Given the description of an element on the screen output the (x, y) to click on. 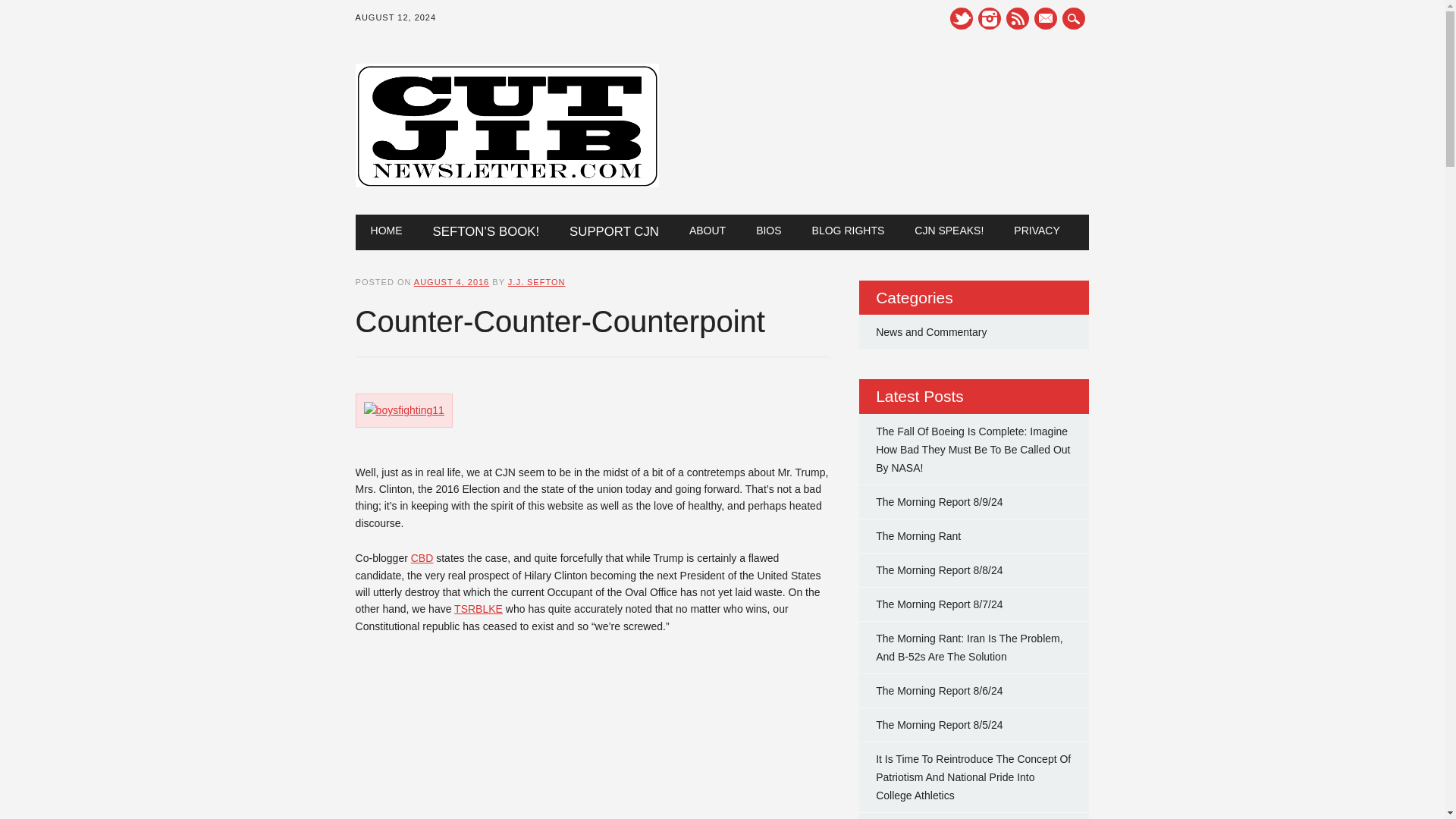
Instagram (989, 18)
BLOG RIGHTS (847, 230)
J.J. SEFTON (537, 281)
8:43 am (451, 281)
Twitter (961, 18)
TSRBLKE (478, 608)
View all posts by J.J. Sefton (537, 281)
ABOUT (707, 230)
HOME (386, 230)
